Given the description of an element on the screen output the (x, y) to click on. 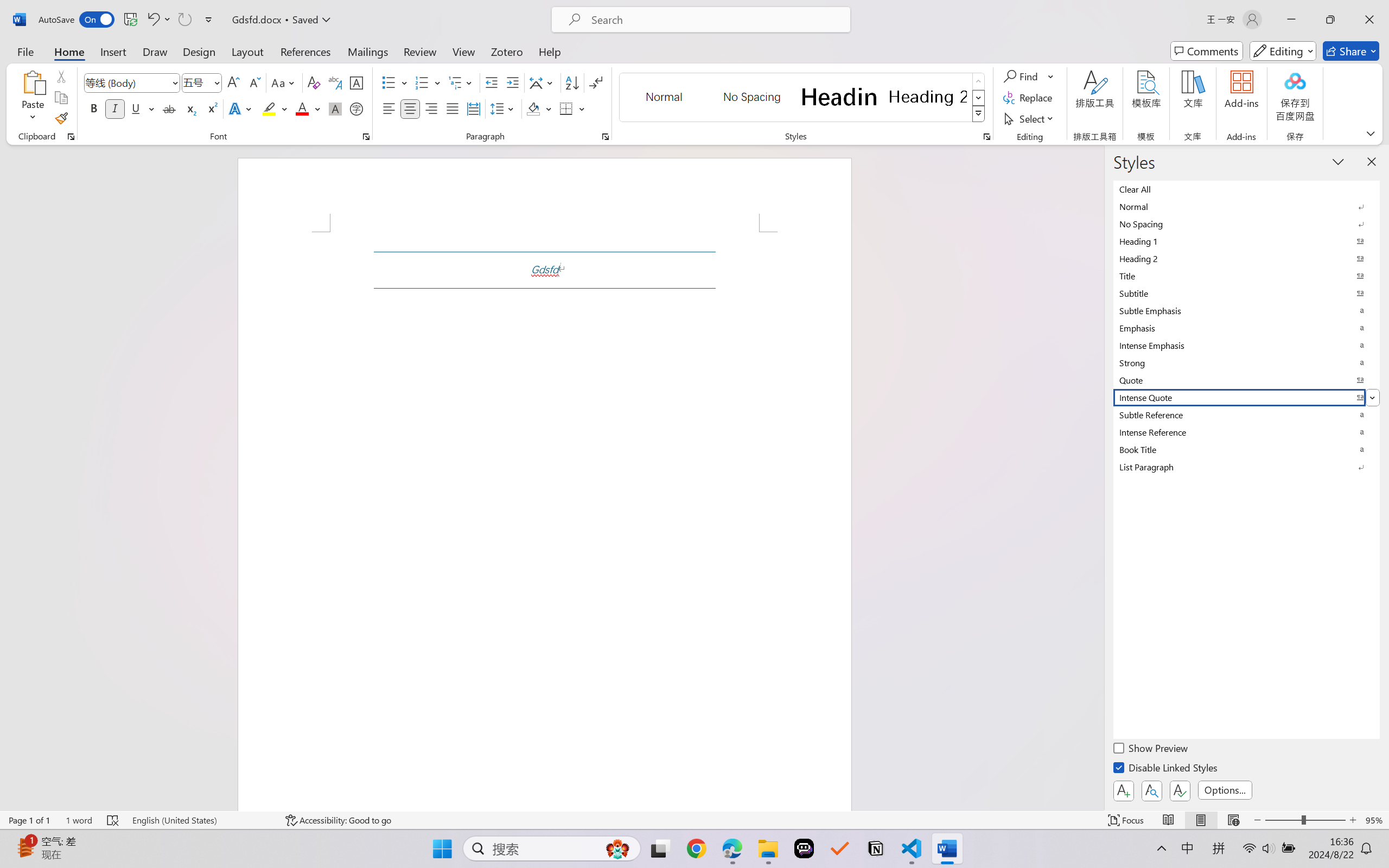
AutomationID: QuickStylesGallery (802, 97)
Format Painter (60, 118)
Disable Linked Styles (1166, 769)
Font Color (308, 108)
List Paragraph (1246, 466)
Text Effects and Typography (241, 108)
Class: NetUIButton (1179, 790)
Strong (1246, 362)
